Given the description of an element on the screen output the (x, y) to click on. 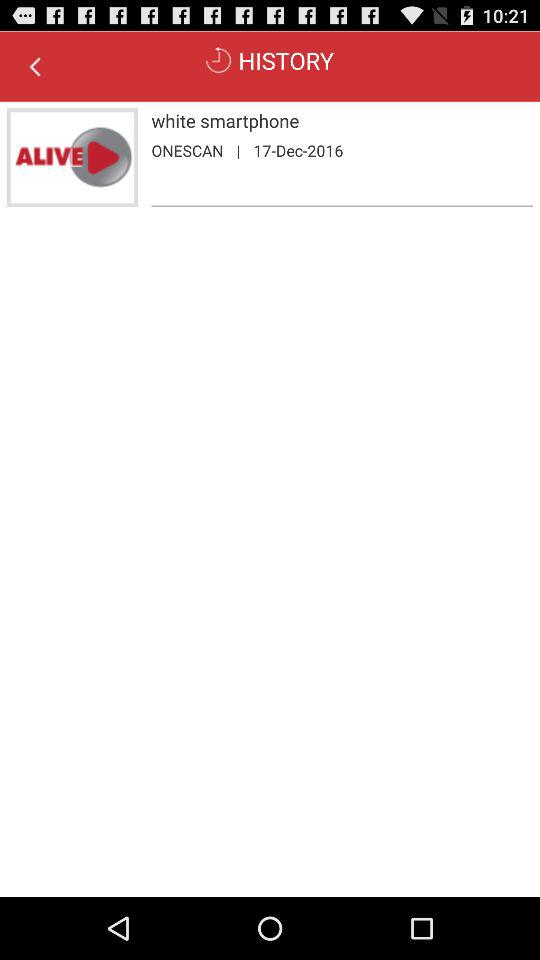
turn off item below white smartphone item (187, 150)
